Given the description of an element on the screen output the (x, y) to click on. 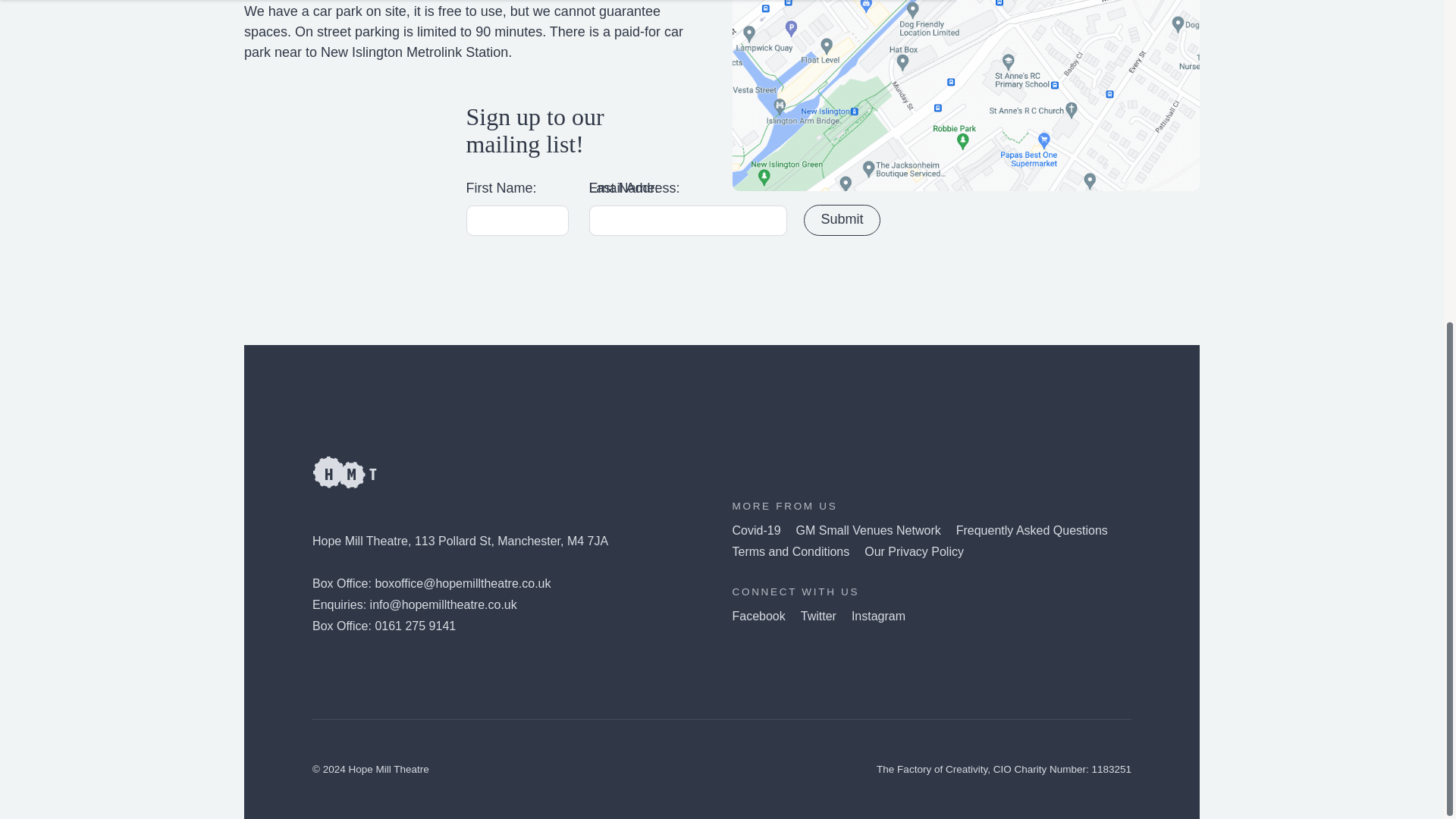
Submit (841, 219)
Submit (841, 219)
